Given the description of an element on the screen output the (x, y) to click on. 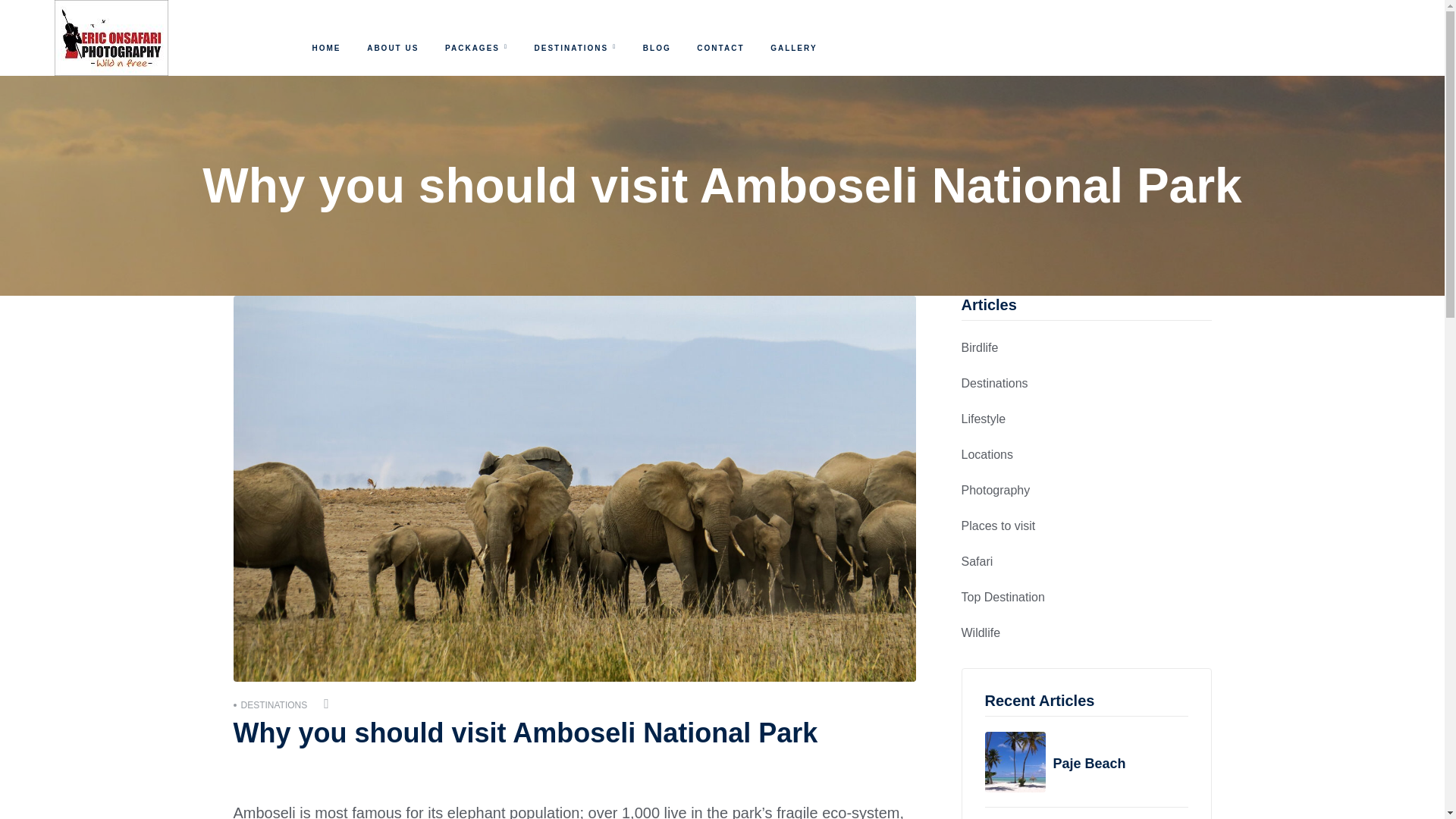
HOME (326, 48)
ABOUT US (392, 48)
DESTINATIONS (575, 48)
Top (1420, 790)
PACKAGES (476, 48)
